Given the description of an element on the screen output the (x, y) to click on. 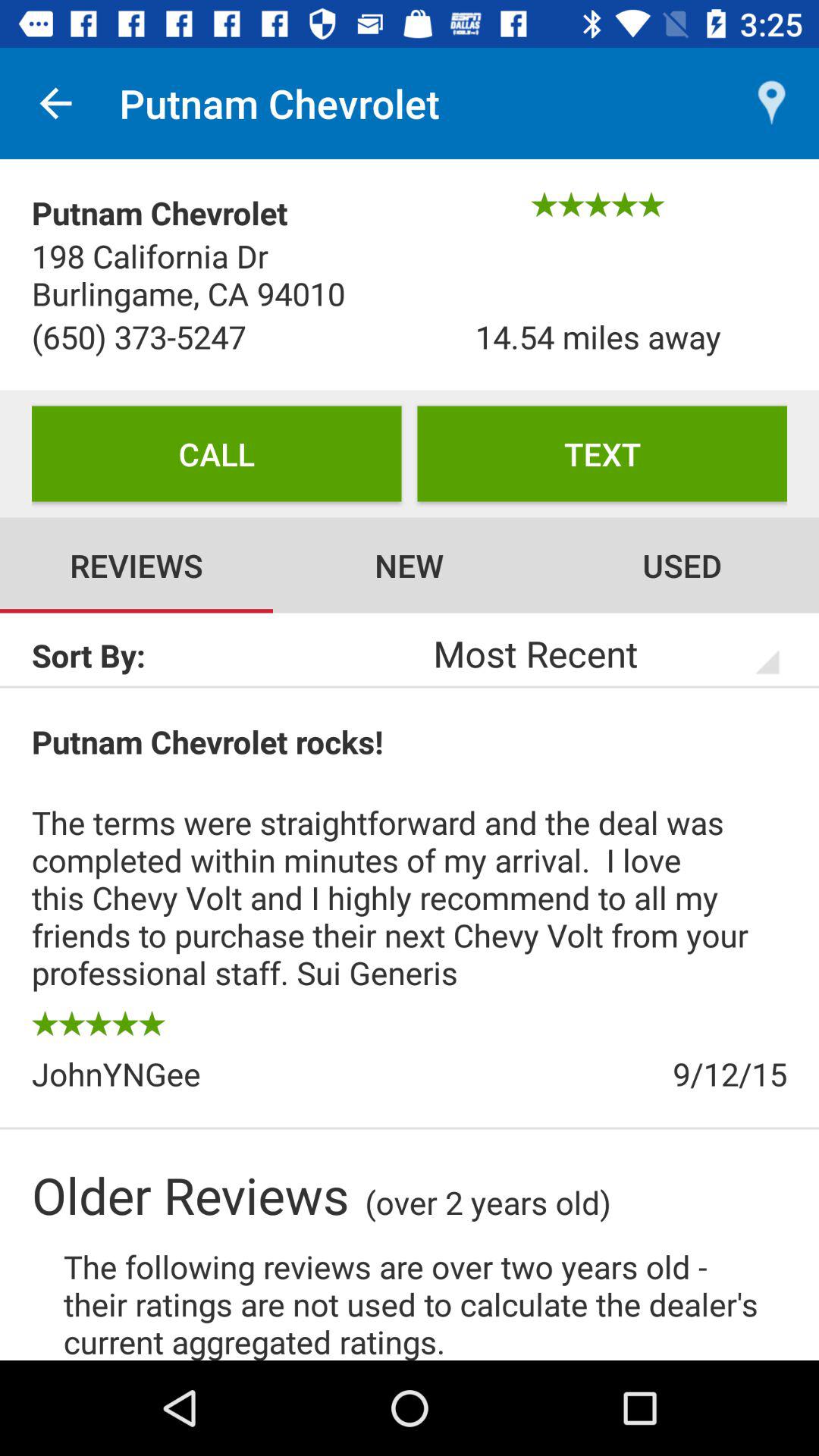
turn off the item above the putnam chevrolet item (55, 103)
